Given the description of an element on the screen output the (x, y) to click on. 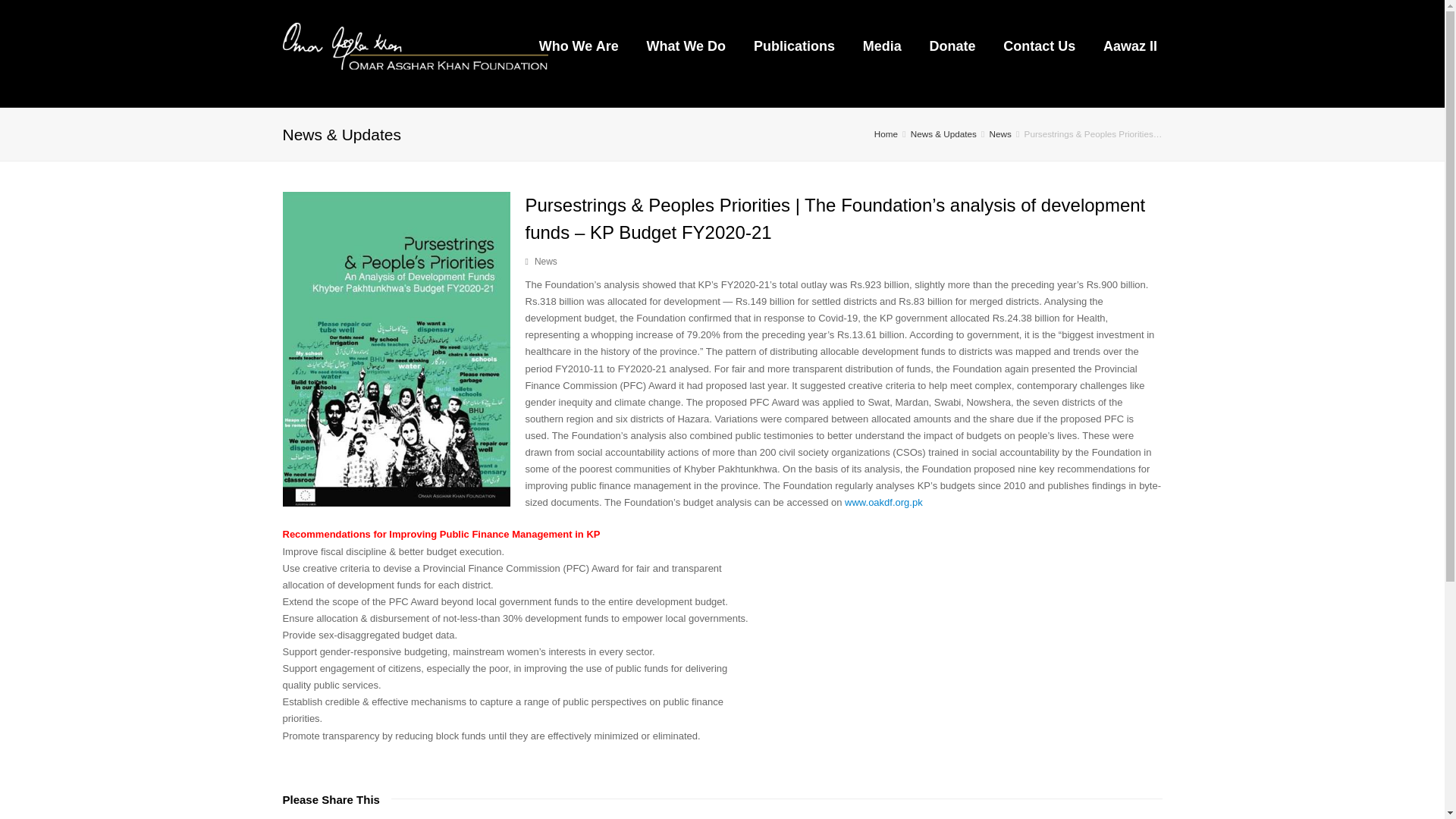
Contact Us (1039, 46)
Who We Are (577, 46)
News (545, 261)
Omar Asghar Khan Foundation (414, 44)
News (1000, 133)
Donate (952, 46)
Home (886, 133)
Omar Asghar Khan Foundation (886, 133)
Publications (793, 46)
What We Do (685, 46)
